Given the description of an element on the screen output the (x, y) to click on. 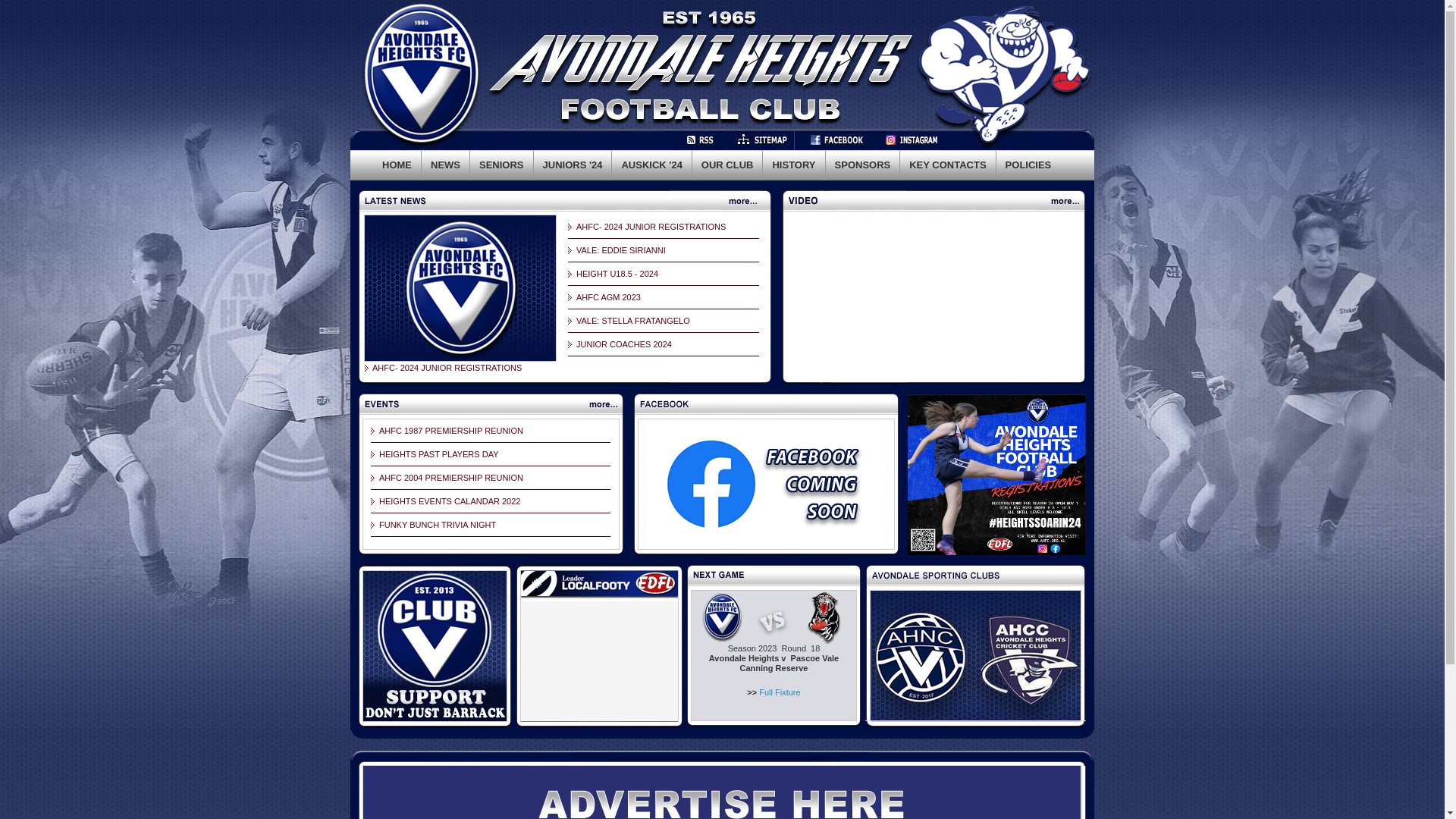
HISTORY Element type: text (793, 164)
KEY CONTACTS Element type: text (947, 164)
SPONSORS Element type: text (862, 164)
JUNIOR COACHES 2024 Element type: text (623, 343)
NEWS Element type: text (445, 164)
AHFC 2004 PREMIERSHIP REUNION Element type: text (451, 477)
SENIORS Element type: text (501, 164)
POLICIES Element type: text (1028, 164)
JUNIORS '24 Element type: text (572, 164)
OUR CLUB Element type: text (727, 164)
VALE: STELLA FRATANGELO Element type: text (633, 320)
AUSKICK '24 Element type: text (650, 164)
AHFC- 2024 JUNIOR REGISTRATIONS Element type: text (446, 367)
HOME Element type: text (396, 164)
HEIGHTS PAST PLAYERS DAY Element type: text (438, 453)
AHFC 1987 PREMIERSHIP REUNION Element type: text (451, 430)
Full Fixture Element type: text (779, 691)
HEIGHTS EVENTS CALANDAR 2022 Element type: text (449, 500)
AHFC AGM 2023 Element type: text (608, 296)
HEIGHT U18.5 - 2024 Element type: text (617, 273)
AHFC- 2024 JUNIOR REGISTRATIONS Element type: text (650, 226)
FUNKY BUNCH TRIVIA NIGHT Element type: text (437, 524)
VALE: EDDIE SIRIANNI Element type: text (620, 249)
